Given the description of an element on the screen output the (x, y) to click on. 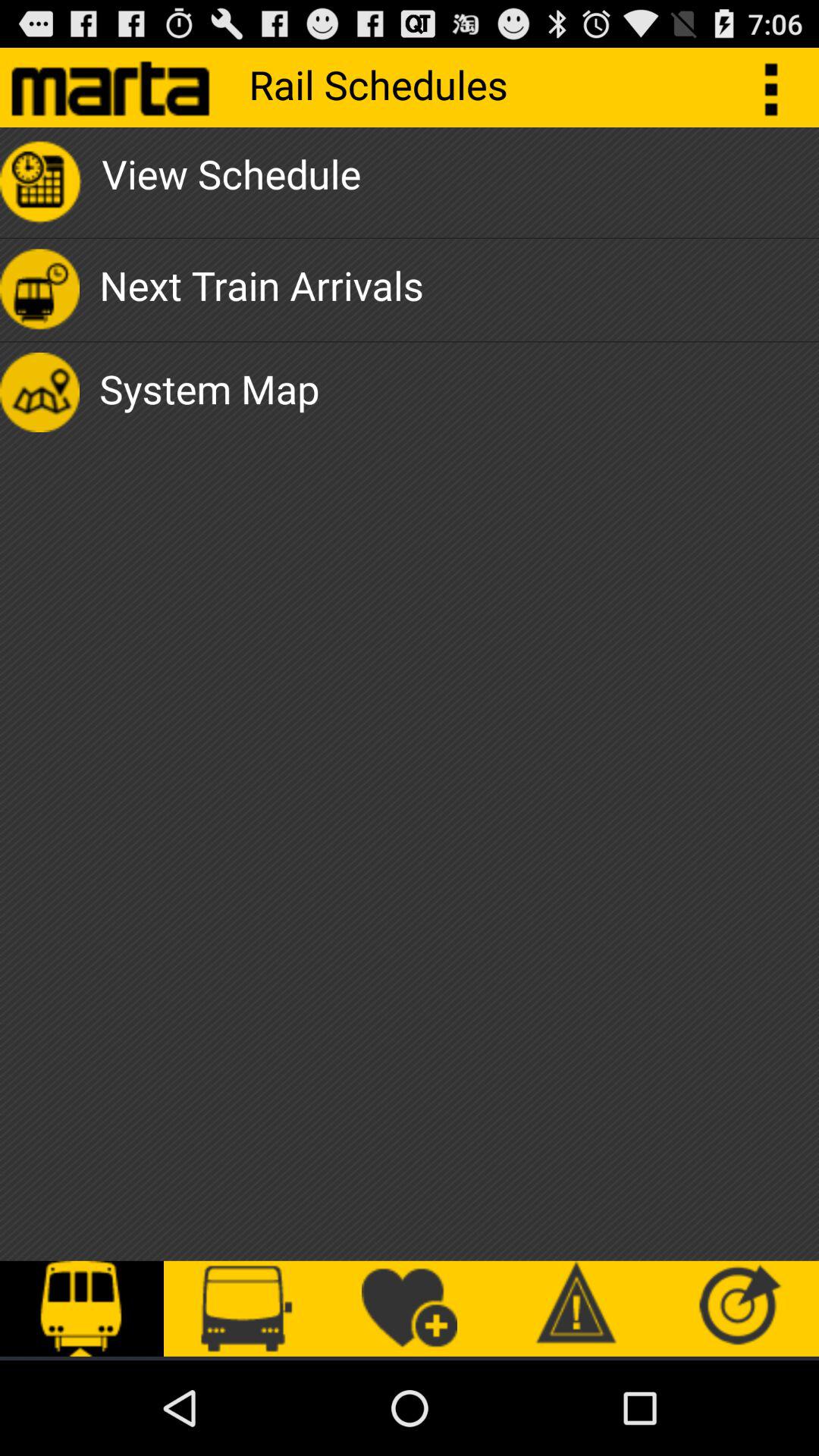
press the icon at the top right corner (779, 87)
